Given the description of an element on the screen output the (x, y) to click on. 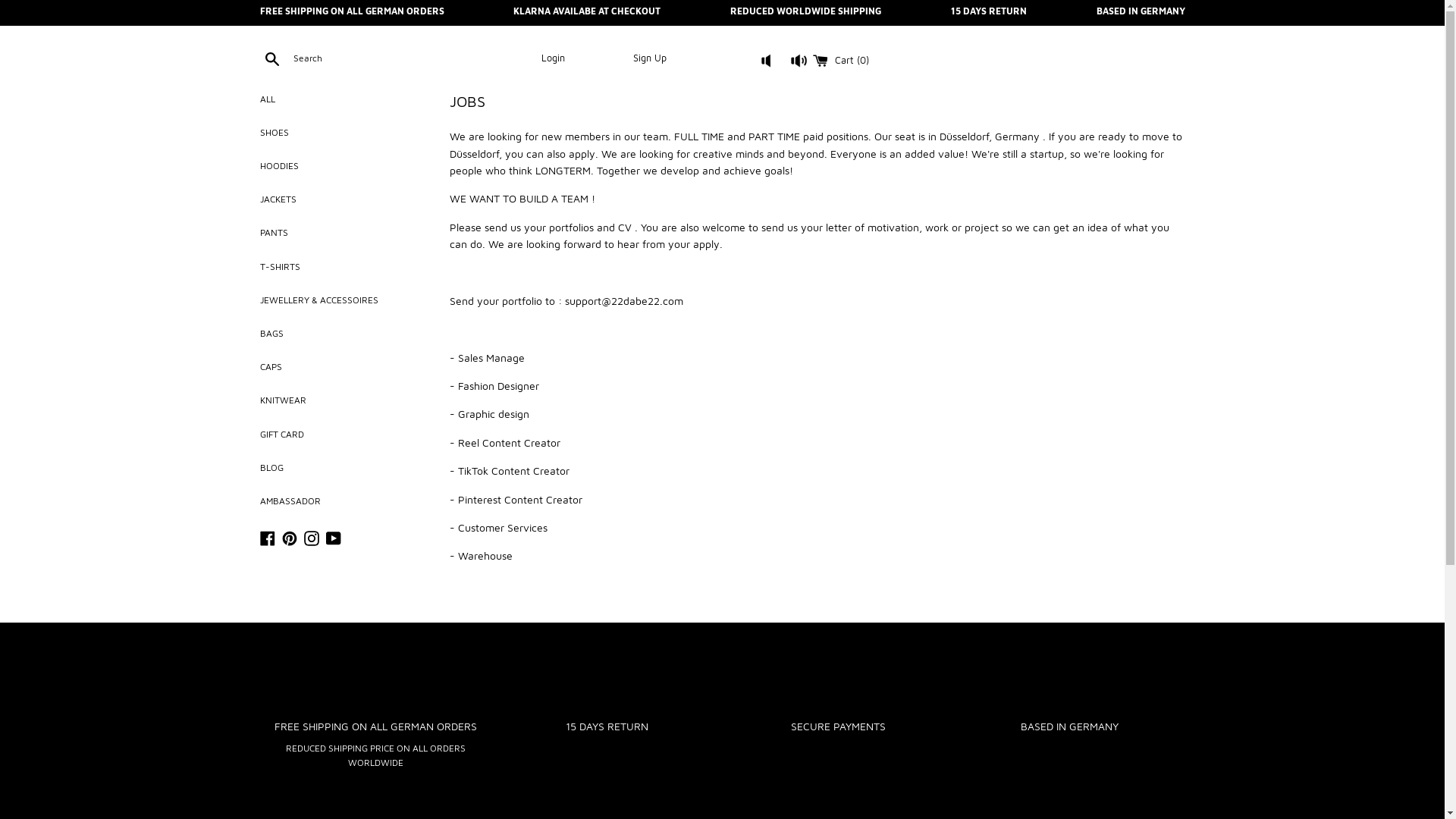
Facebook Element type: text (266, 536)
ALL Element type: text (342, 98)
SHOES Element type: text (342, 132)
KNITWEAR Element type: text (342, 399)
JEWELLERY & ACCESSOIRES Element type: text (342, 299)
JACKETS Element type: text (342, 198)
T-SHIRTS Element type: text (342, 266)
BLOG Element type: text (342, 467)
Sign Up Element type: text (649, 57)
CAPS Element type: text (342, 366)
Search Element type: text (271, 57)
Login Element type: text (552, 57)
HOODIES Element type: text (342, 165)
AMBASSADOR Element type: text (342, 500)
YouTube Element type: text (333, 536)
button Element type: hover (784, 65)
BAGS Element type: text (342, 332)
Cart (0) Element type: text (840, 60)
Pinterest Element type: text (289, 536)
PANTS Element type: text (342, 232)
GIFT CARD Element type: text (342, 433)
Instagram Element type: text (310, 536)
